Given the description of an element on the screen output the (x, y) to click on. 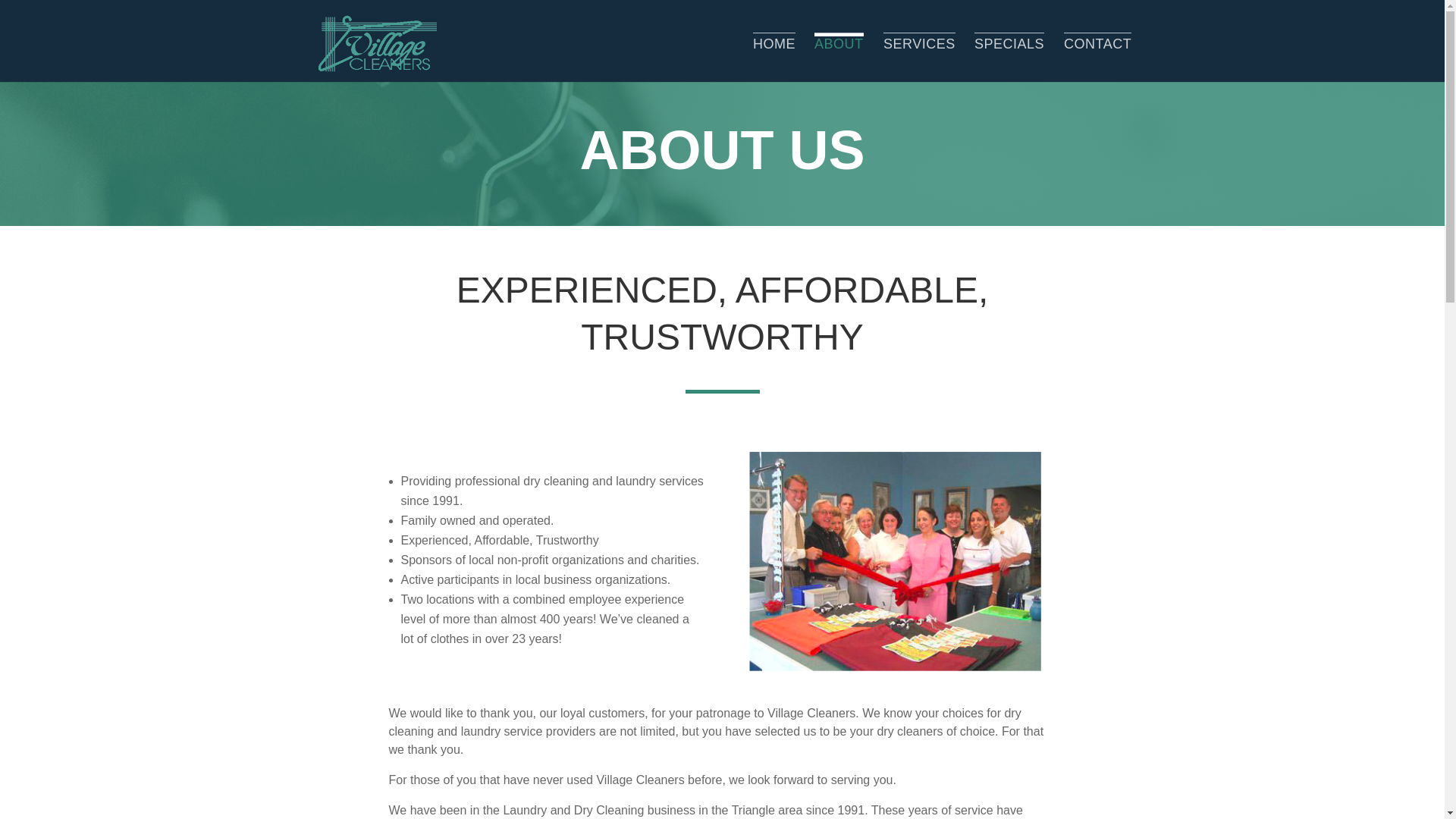
ABOUT (838, 56)
SPECIALS (1008, 56)
SERVICES (919, 56)
CONTACT (1097, 56)
